Given the description of an element on the screen output the (x, y) to click on. 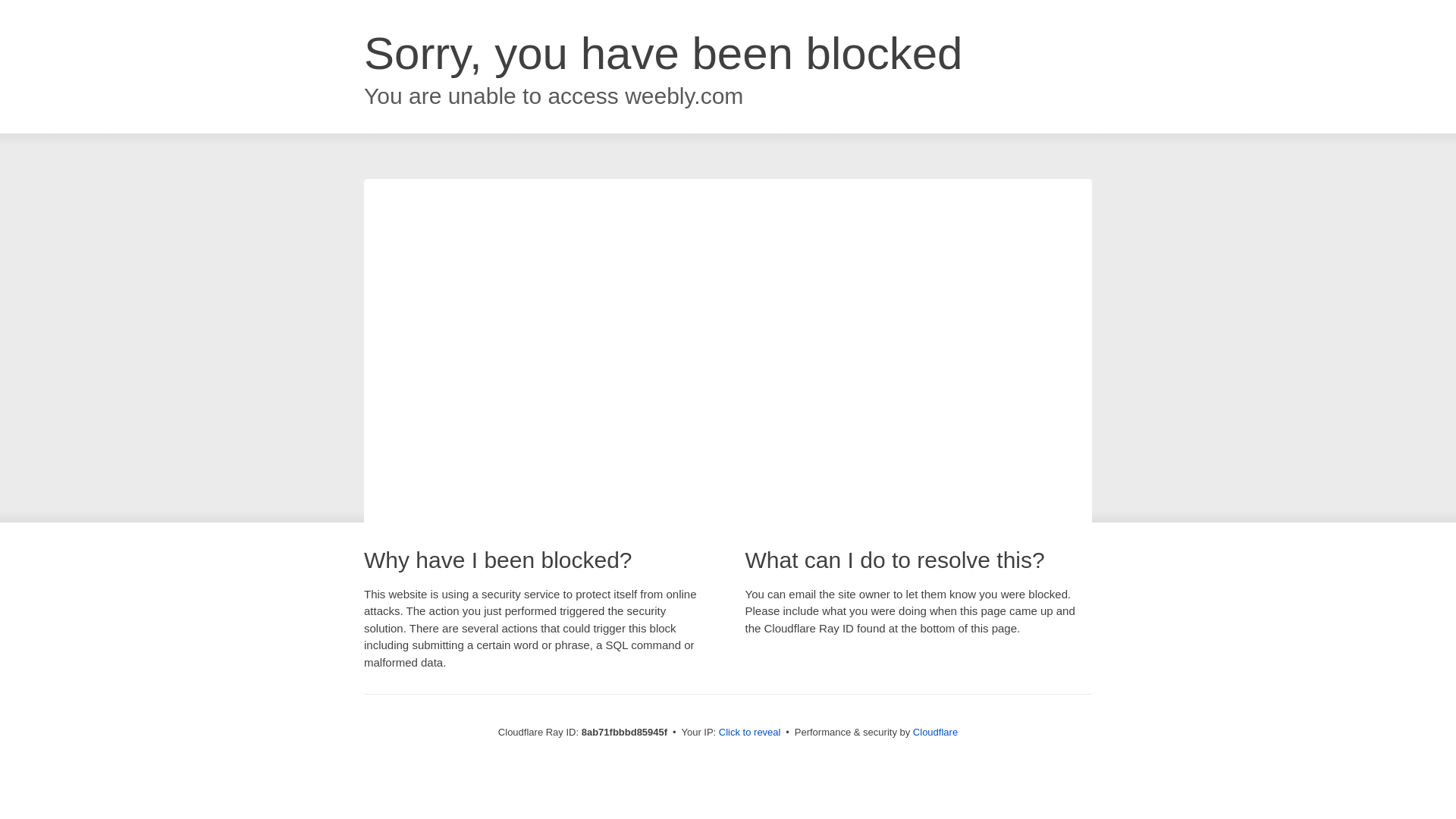
Click to reveal (749, 732)
Cloudflare (935, 731)
